Given the description of an element on the screen output the (x, y) to click on. 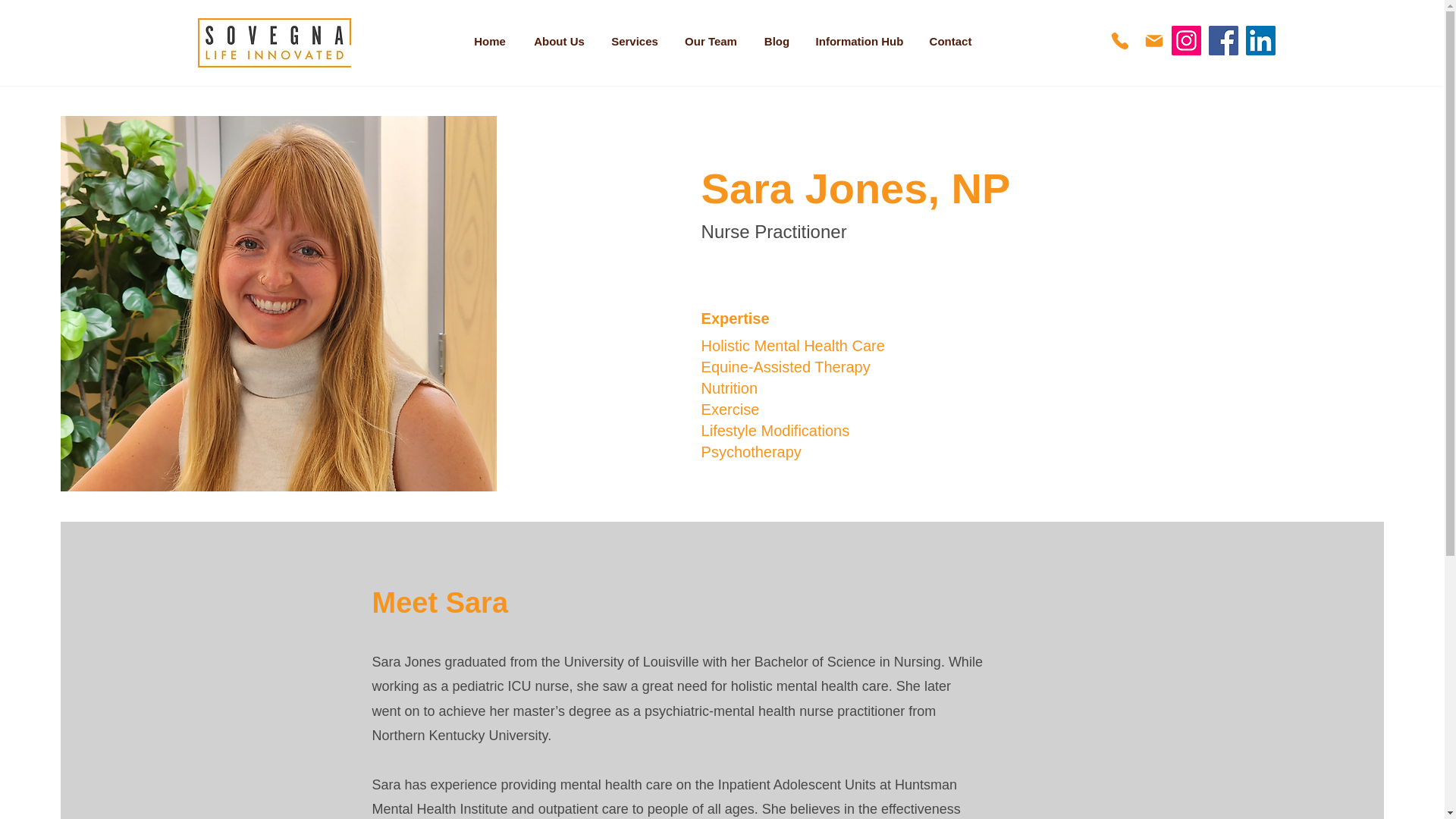
Contact (950, 41)
Services (633, 41)
Home (490, 41)
Information Hub (859, 41)
Blog (777, 41)
About Us (557, 41)
Our Team (711, 41)
